Given the description of an element on the screen output the (x, y) to click on. 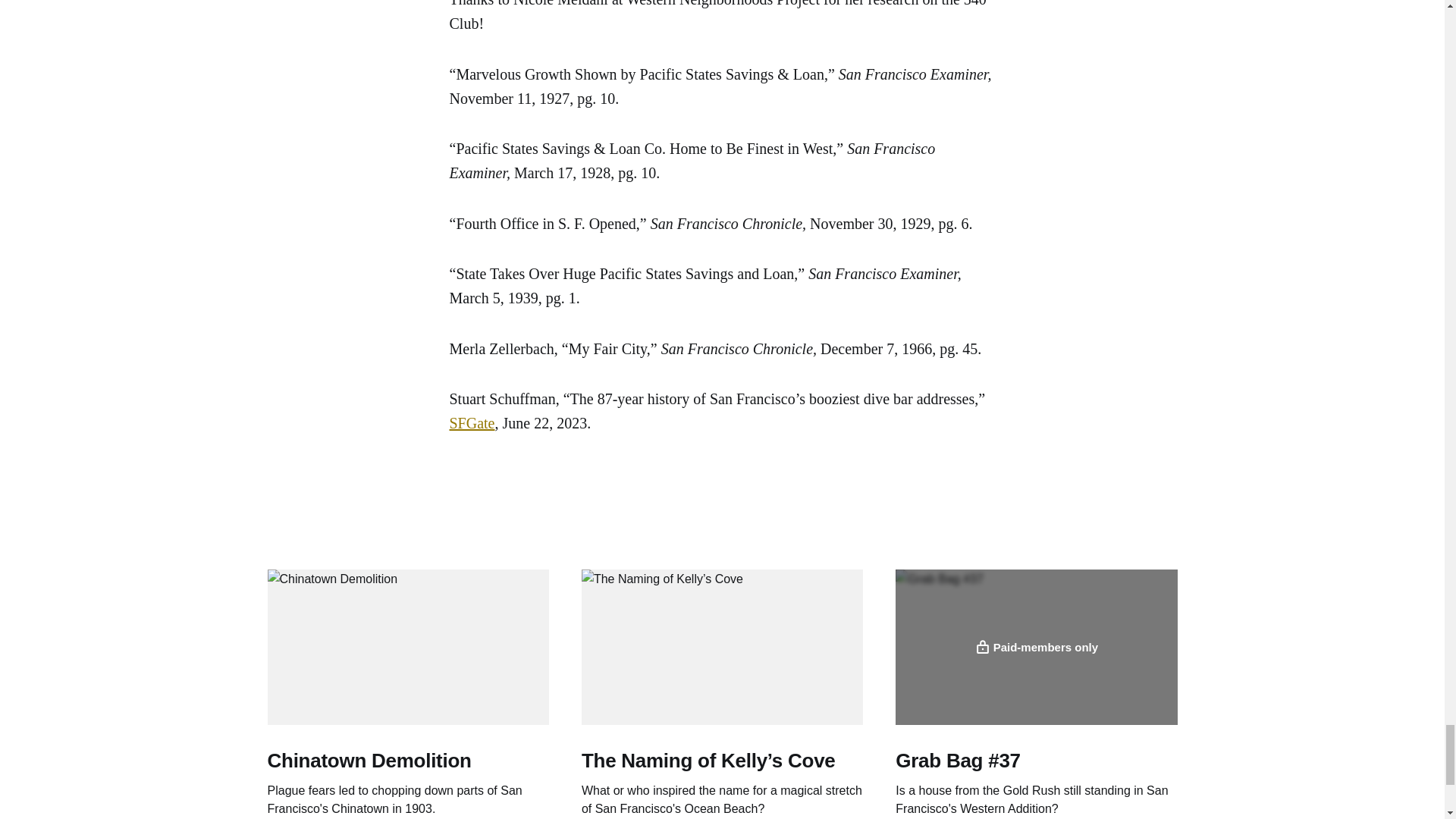
Paid-members only (1035, 646)
SFGate (471, 422)
